Given the description of an element on the screen output the (x, y) to click on. 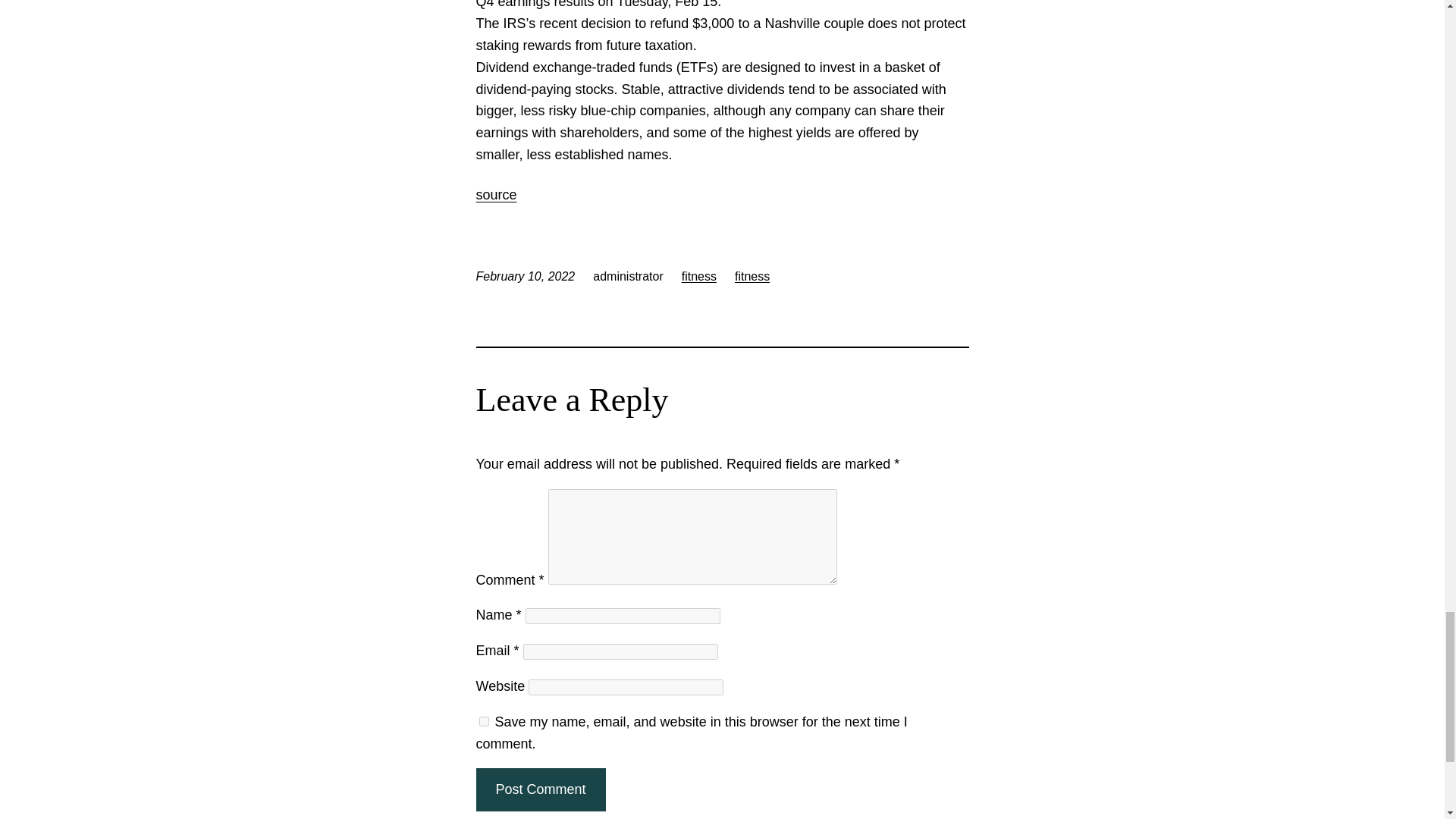
source (496, 194)
fitness (752, 276)
Post Comment (540, 789)
fitness (698, 276)
yes (484, 721)
Post Comment (540, 789)
